Given the description of an element on the screen output the (x, y) to click on. 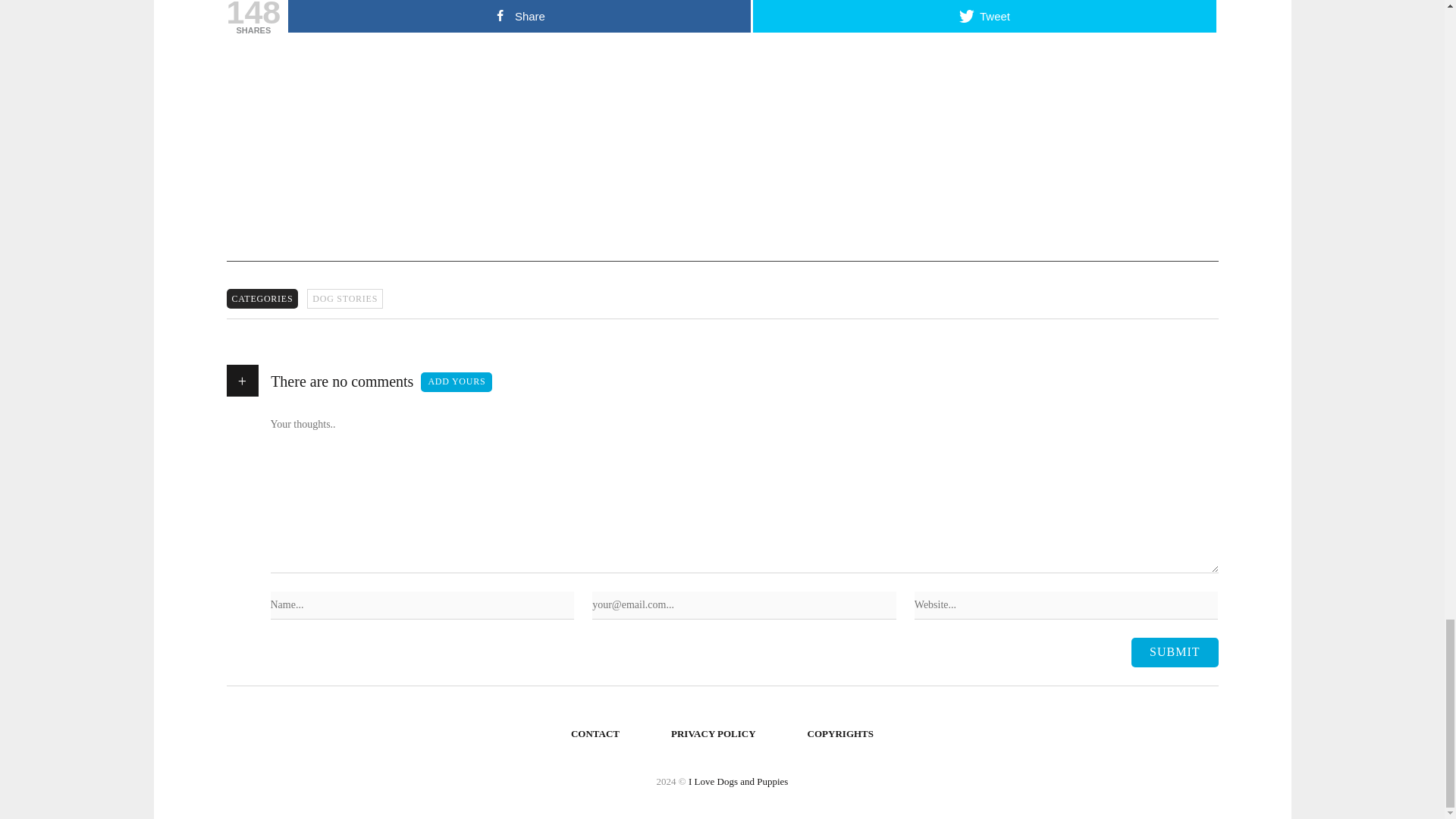
COPYRIGHTS (839, 733)
I Love Dogs and Puppies (737, 781)
DOG STORIES (344, 298)
Share (519, 16)
CONTACT (595, 733)
View all posts in Dog Stories (344, 298)
PRIVACY POLICY (714, 733)
Submit (1174, 652)
Submit (1174, 652)
Tweet (983, 16)
